Given the description of an element on the screen output the (x, y) to click on. 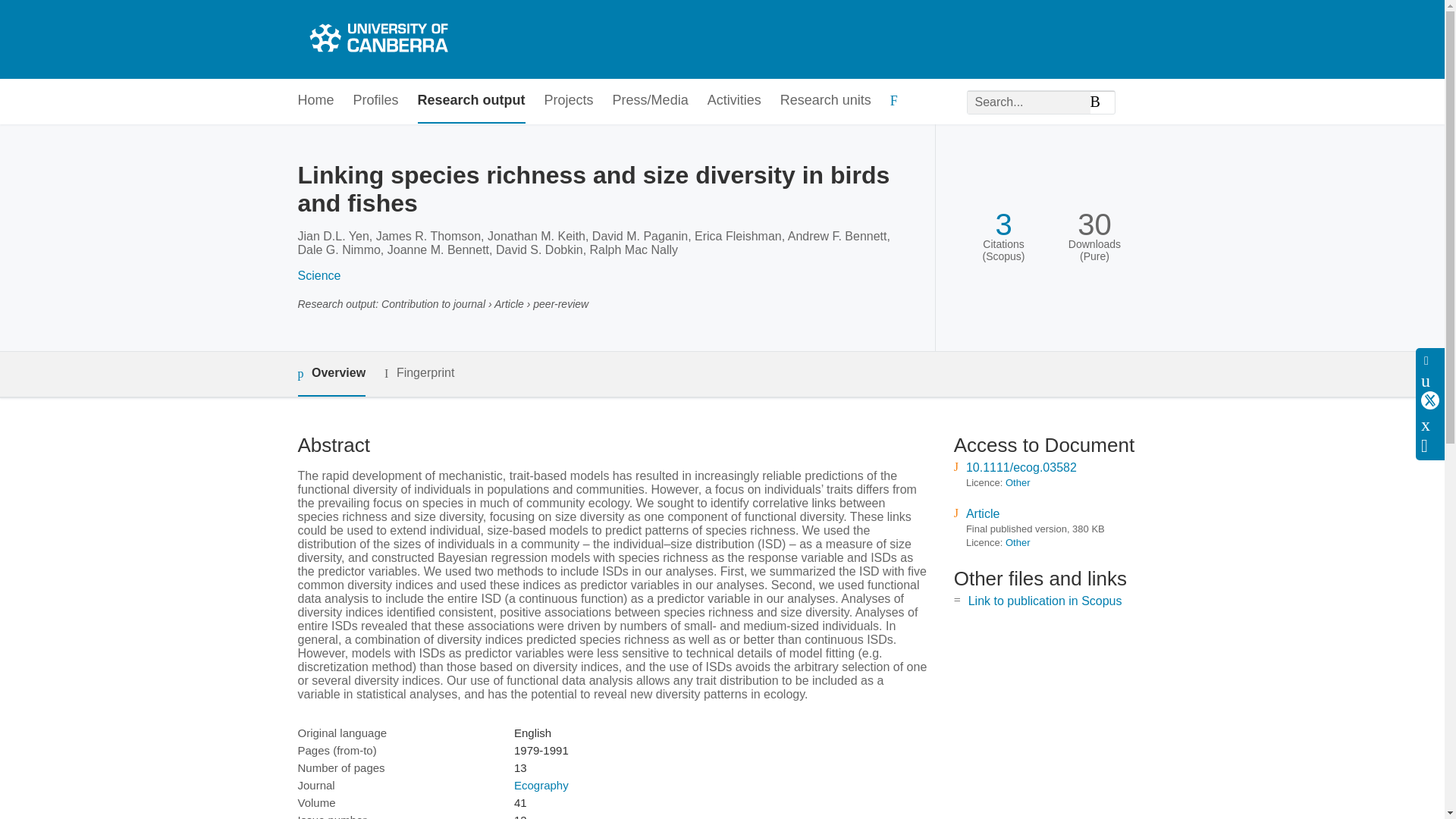
Other (1018, 542)
Link to publication in Scopus (1045, 600)
University of Canberra Research Portal Home (377, 39)
Research output (471, 100)
Other (1018, 482)
Overview (331, 374)
Article (982, 513)
Fingerprint (419, 373)
Projects (569, 100)
